Given the description of an element on the screen output the (x, y) to click on. 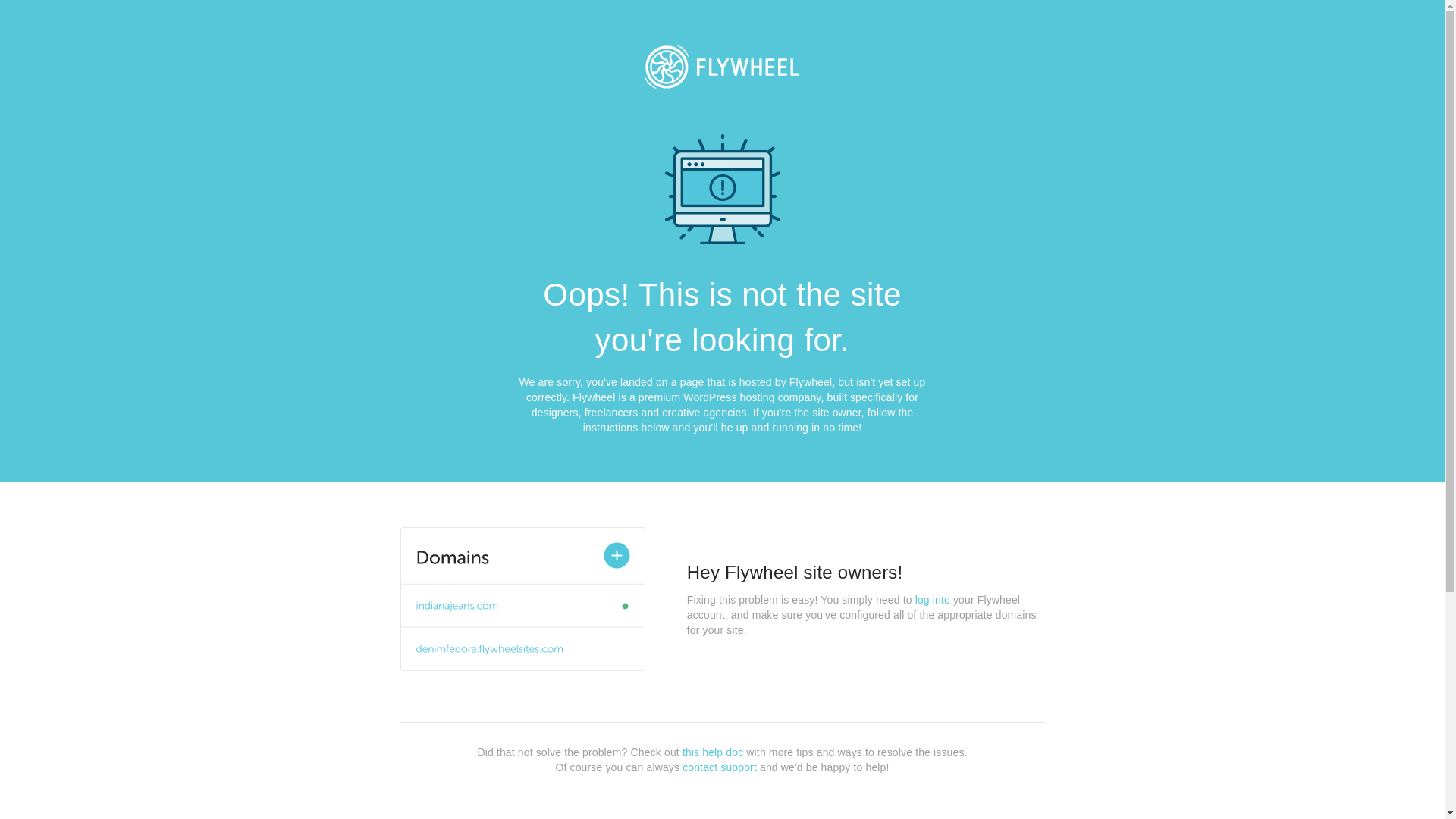
contact support (719, 767)
this help doc (712, 752)
log into (932, 599)
